Given the description of an element on the screen output the (x, y) to click on. 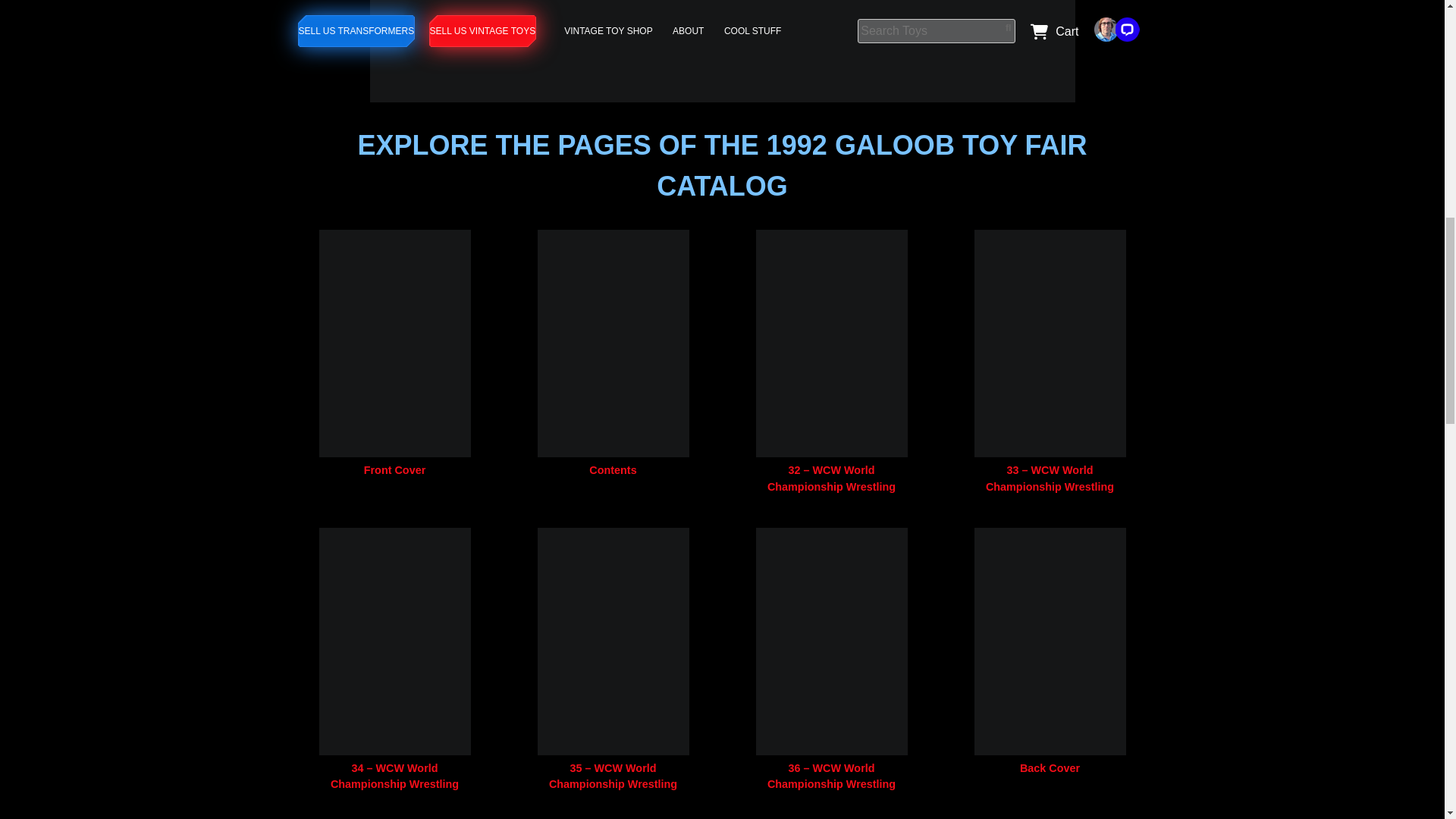
Contents (612, 469)
Sell Your Toy Fair Dealer Catalogs Now (722, 51)
Front Cover (395, 469)
